Given the description of an element on the screen output the (x, y) to click on. 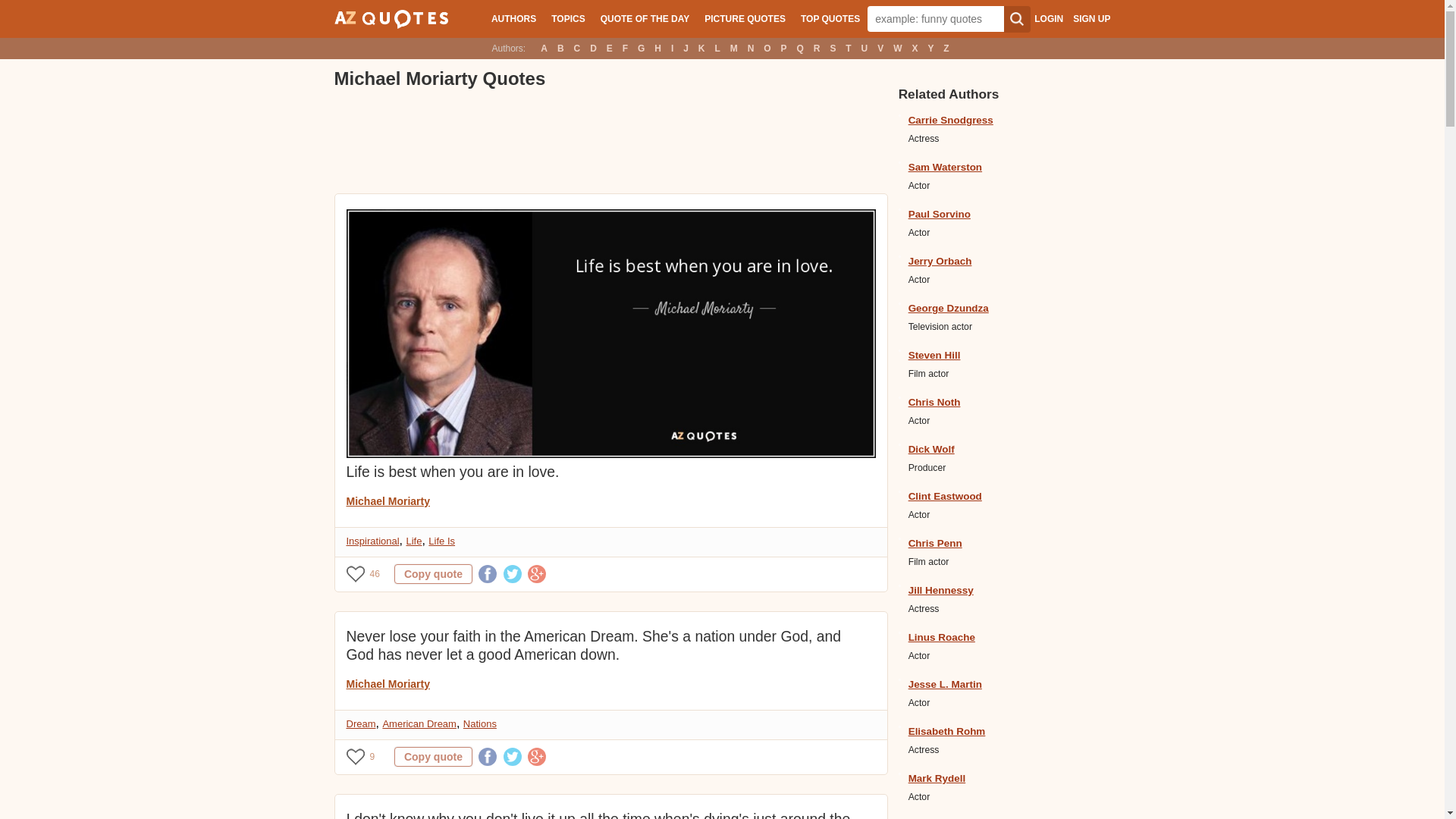
TOPICS (567, 18)
AUTHORS (513, 18)
TOP QUOTES (830, 18)
SIGN UP (1091, 18)
Quote is copied (432, 573)
Quote is copied (432, 756)
PICTURE QUOTES (745, 18)
QUOTE OF THE DAY (644, 18)
LOGIN (1047, 18)
